Given the description of an element on the screen output the (x, y) to click on. 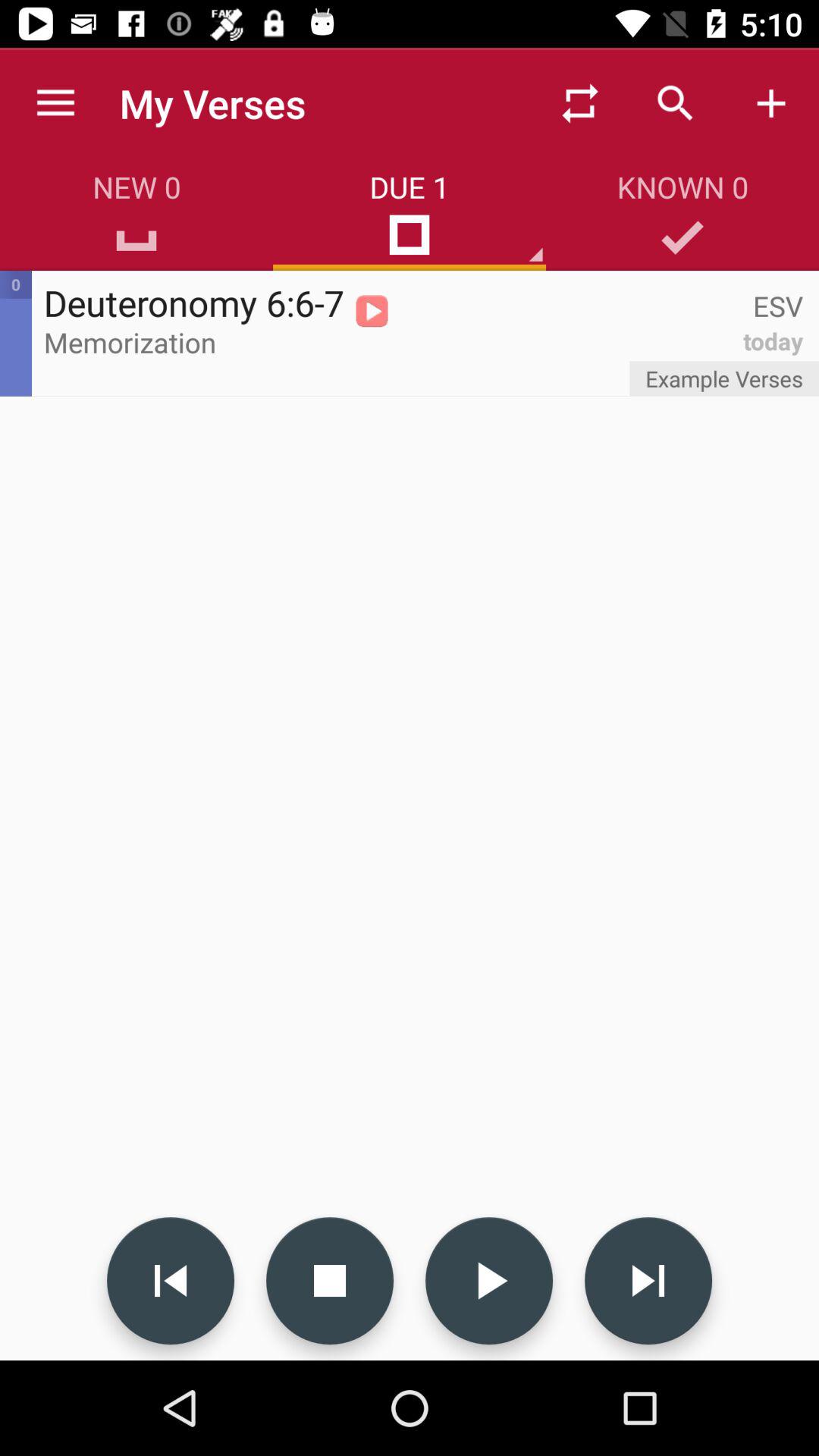
rewind (170, 1280)
